Given the description of an element on the screen output the (x, y) to click on. 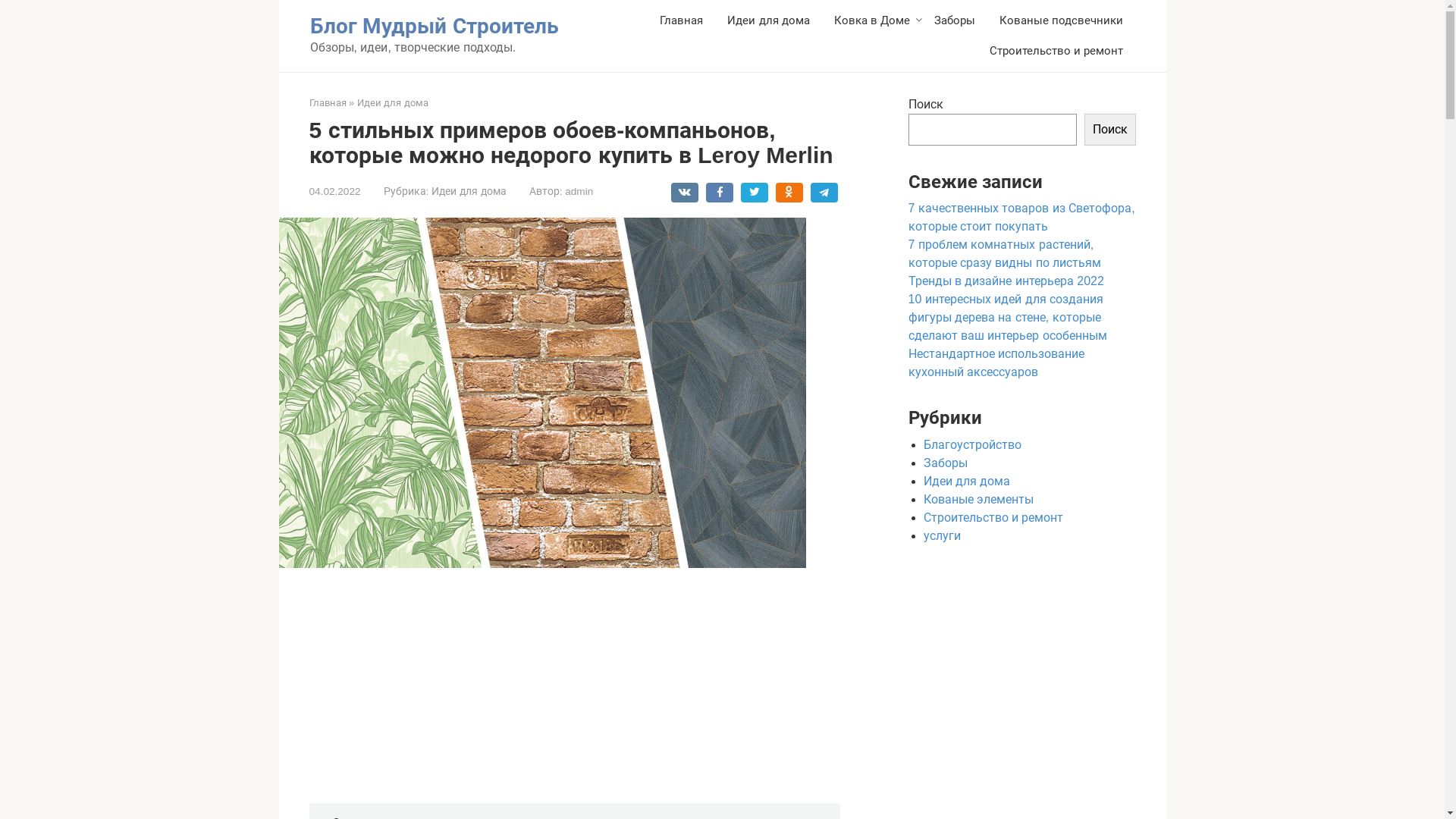
Advertisement Element type: hover (586, 690)
